Given the description of an element on the screen output the (x, y) to click on. 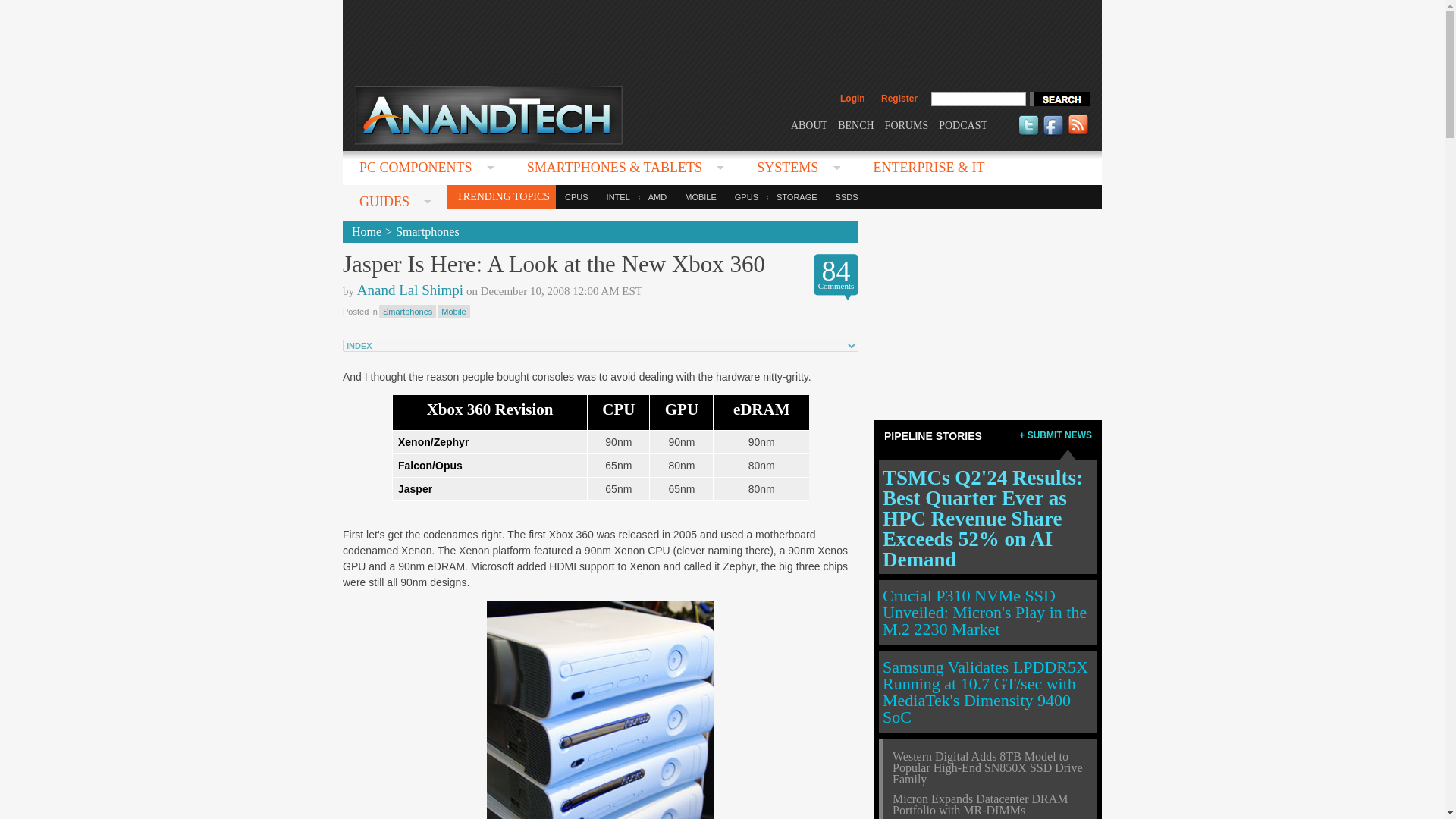
search (1059, 98)
search (1059, 98)
Login (852, 98)
PODCAST (963, 125)
ABOUT (808, 125)
search (1059, 98)
BENCH (855, 125)
Register (898, 98)
FORUMS (906, 125)
